Given the description of an element on the screen output the (x, y) to click on. 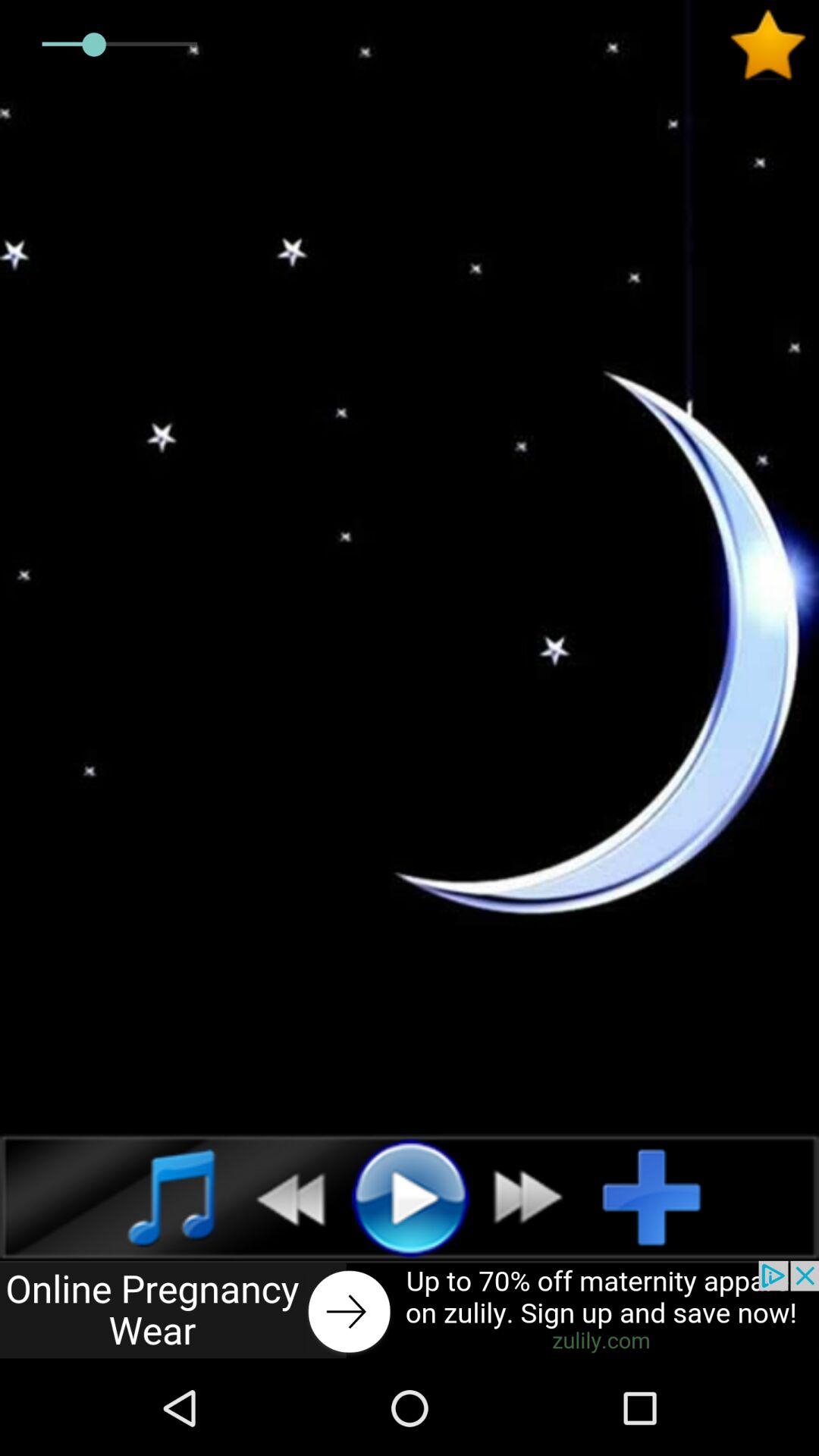
go to play button (409, 1196)
